Given the description of an element on the screen output the (x, y) to click on. 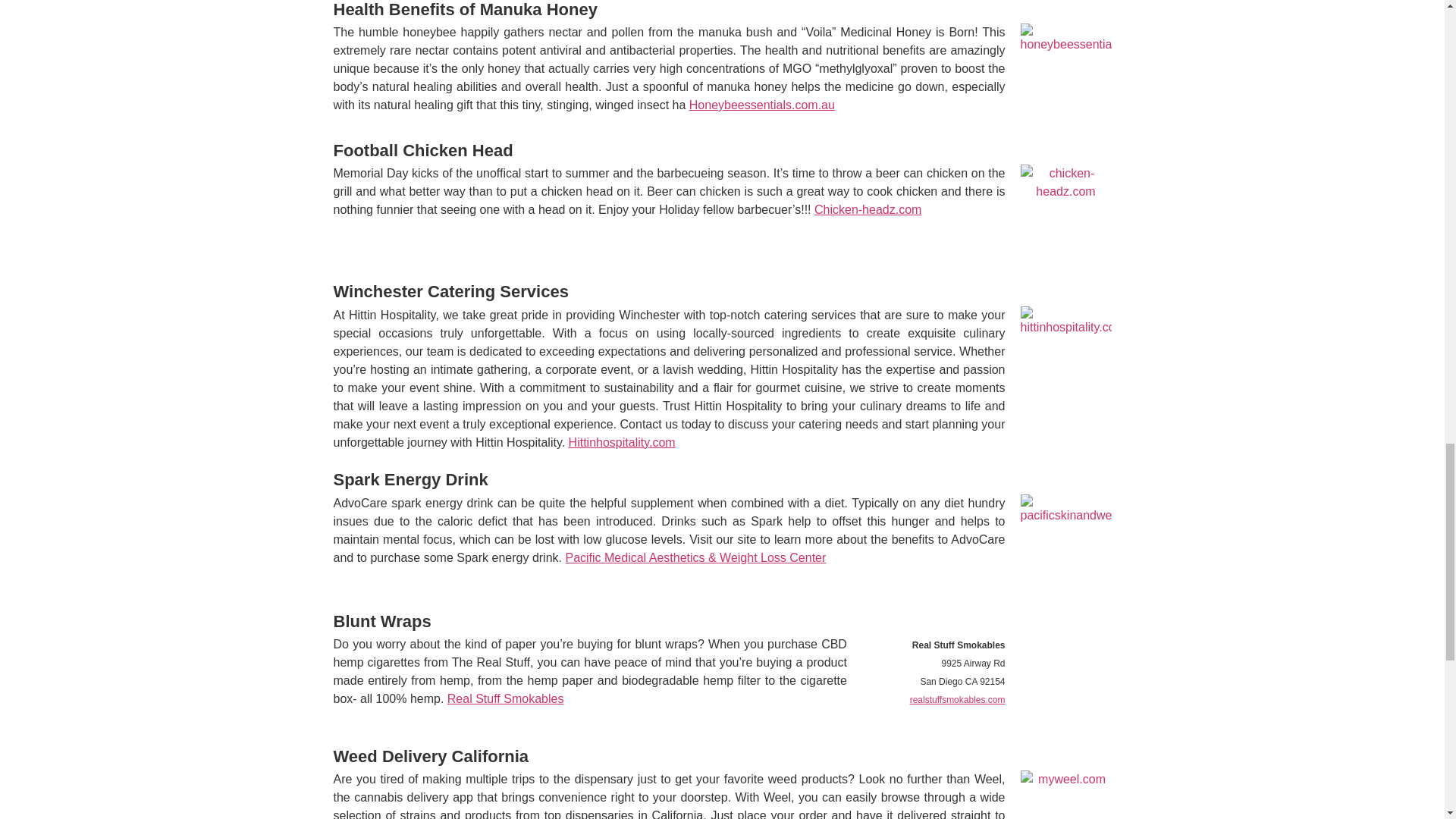
Winchester Catering Services (451, 291)
Winchester Catering Services (451, 291)
Chicken-headz.com (867, 209)
Honeybeessentials.com.au (761, 104)
Spark Energy Drink (410, 479)
Health Benefits of Manuka Honey (464, 9)
Health Benefits of Manuka Honey (464, 9)
Football Chicken Head (423, 149)
Football Chicken Head (423, 149)
